Given the description of an element on the screen output the (x, y) to click on. 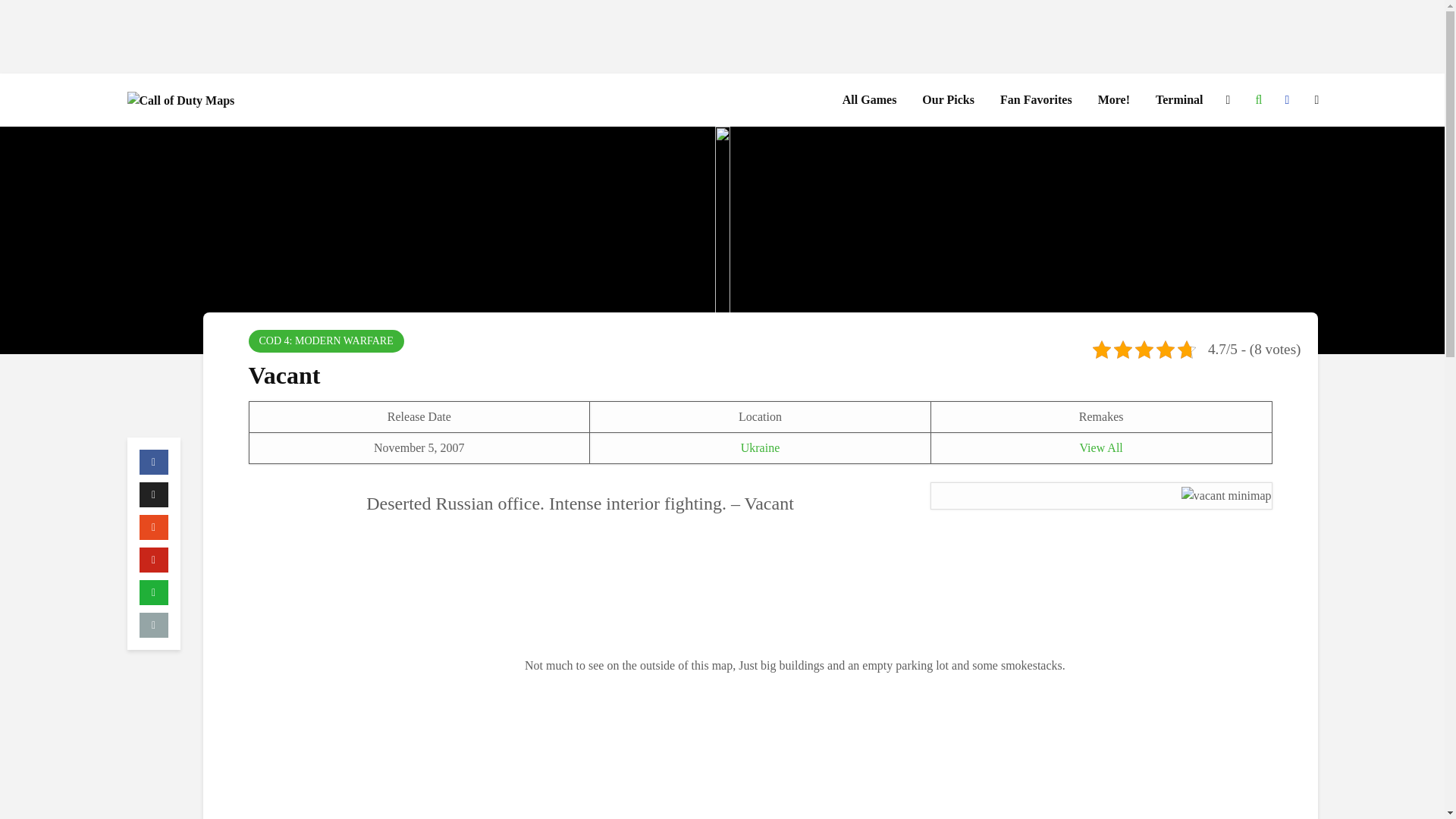
Our Picks (948, 100)
Fan Favorites (1035, 100)
All Games (869, 100)
